Given the description of an element on the screen output the (x, y) to click on. 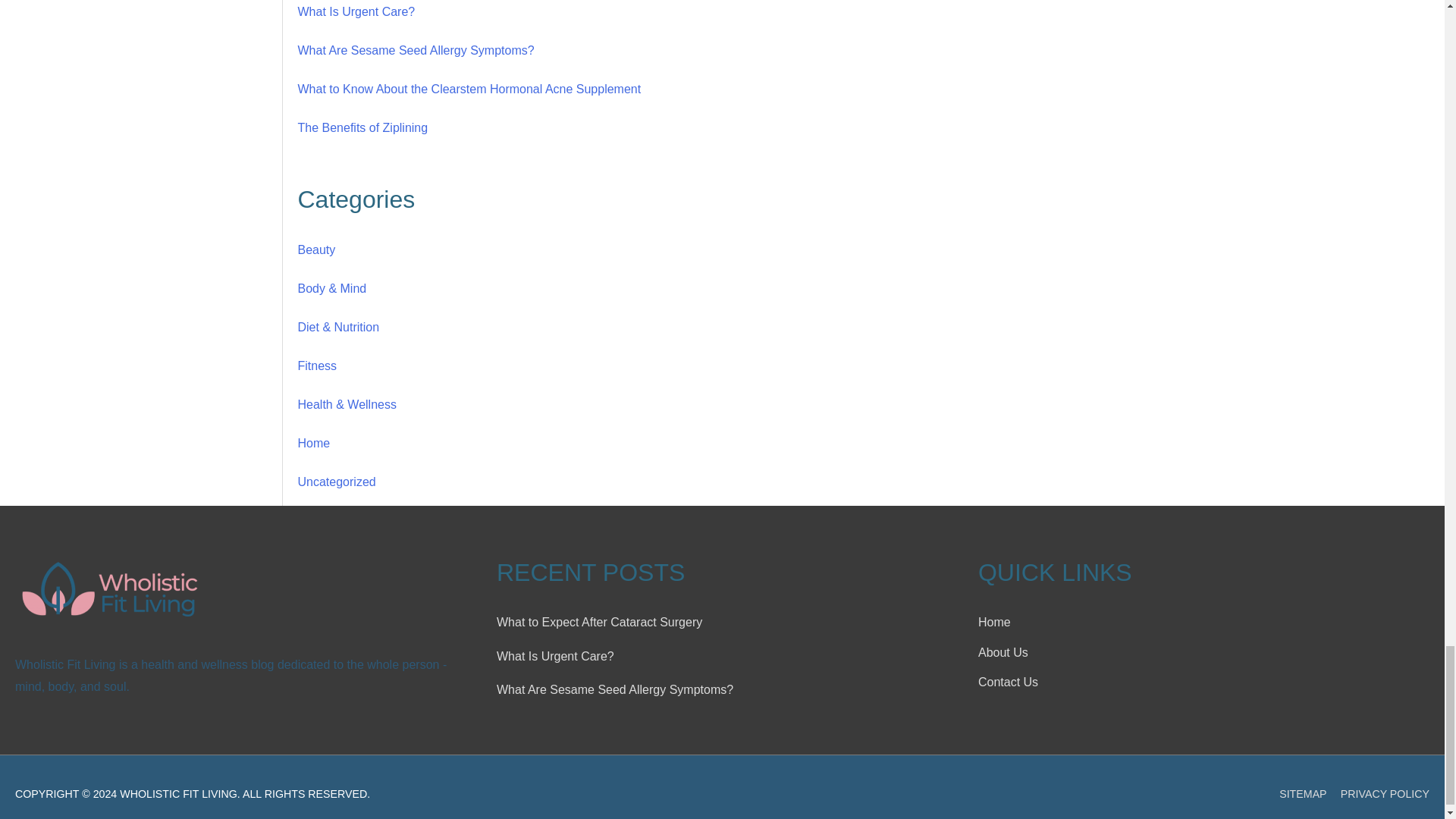
What Are Sesame Seed Allergy Symptoms? (415, 50)
What Is Urgent Care? (355, 11)
